Given the description of an element on the screen output the (x, y) to click on. 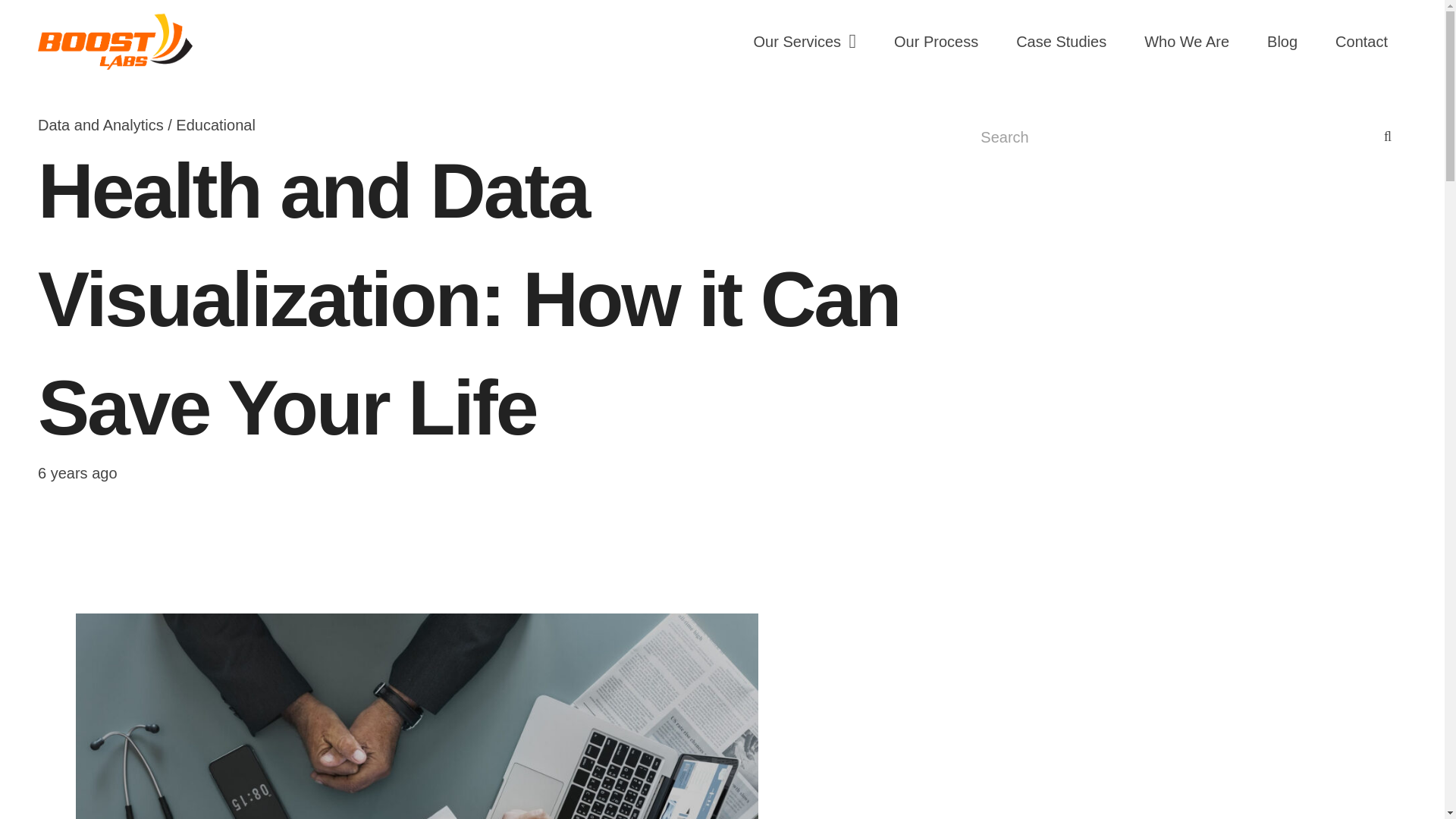
Contact (1361, 41)
Educational (216, 125)
Who We Are (1186, 41)
Case Studies (1061, 41)
Our Process (936, 41)
Data and Analytics (100, 125)
Our Services (805, 41)
